Given the description of an element on the screen output the (x, y) to click on. 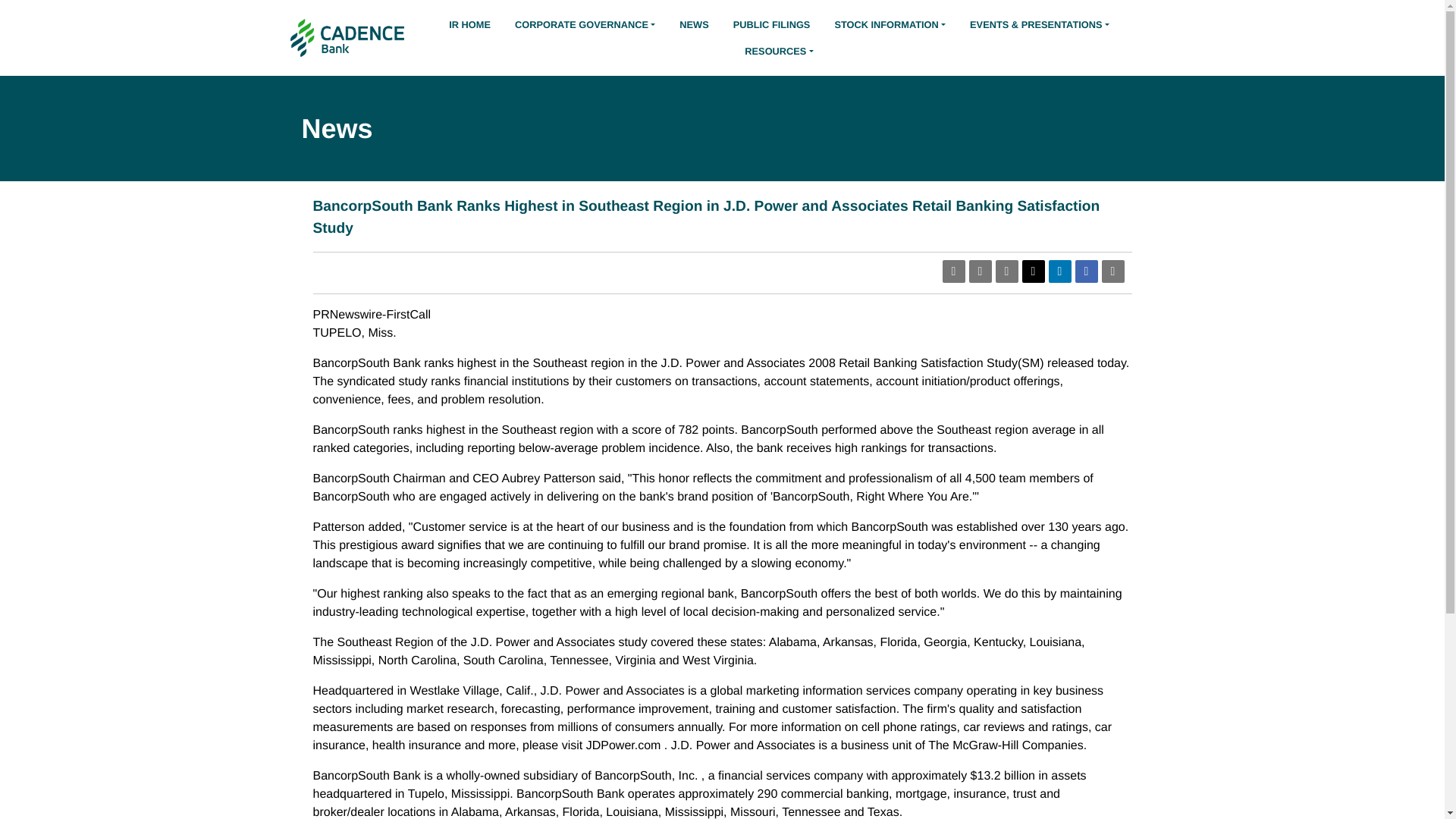
Facebook Share (1086, 271)
rss (980, 271)
Linkedin Share (1059, 271)
IR HOME (469, 24)
PUBLIC FILINGS (771, 24)
NEWS (693, 24)
pdf (952, 271)
STOCK INFORMATION (890, 24)
Twitter Share (1033, 271)
email (1005, 271)
RESOURCES (778, 50)
print (1112, 271)
CORPORATE GOVERNANCE (584, 24)
